Given the description of an element on the screen output the (x, y) to click on. 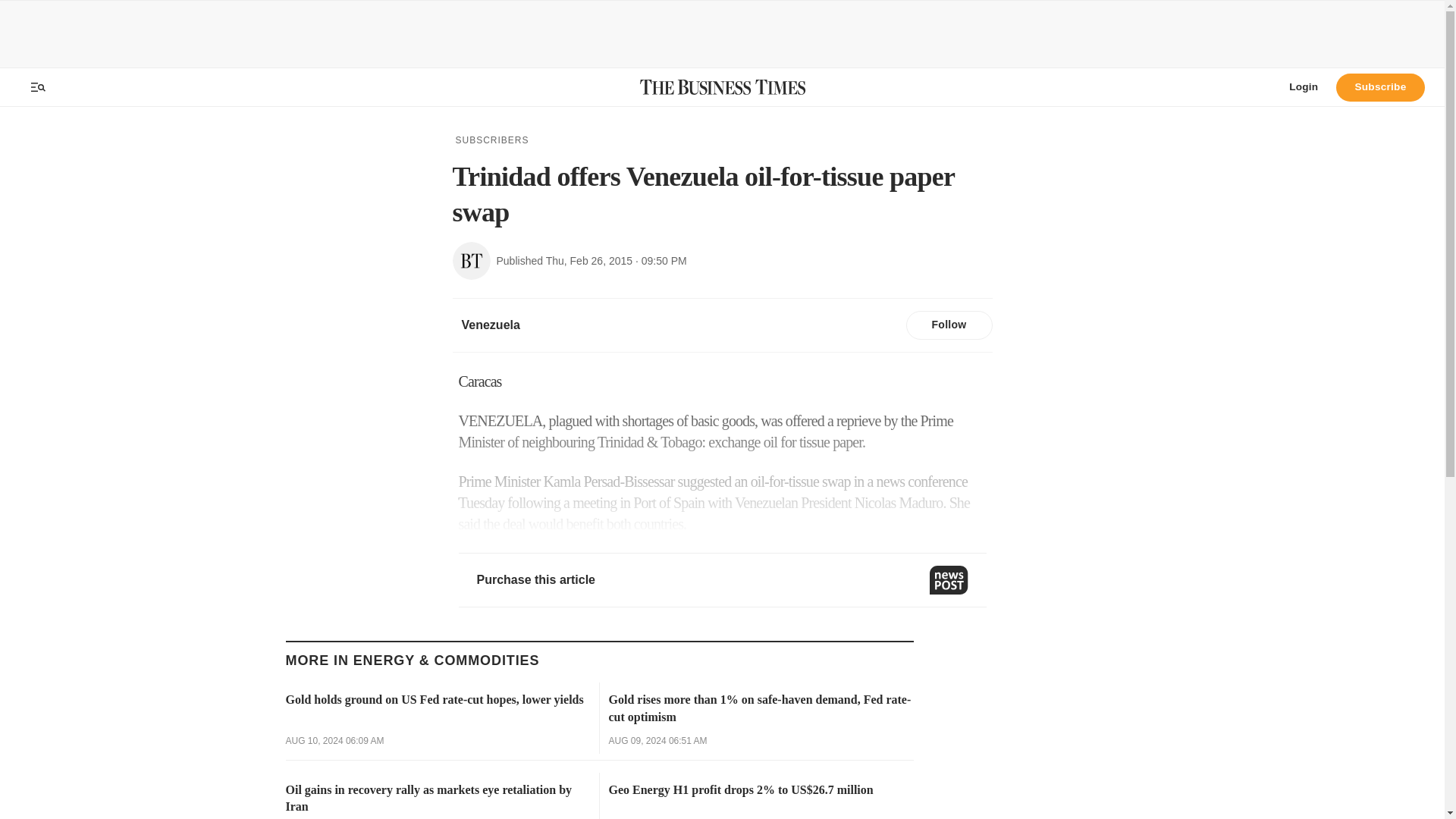
The Business Times (722, 86)
Login (1302, 86)
Gold holds ground on US Fed rate-cut hopes, lower yields (437, 699)
Follow (948, 325)
Venezuela (489, 324)
Subscribe (1379, 86)
Purchase this article (722, 579)
